Given the description of an element on the screen output the (x, y) to click on. 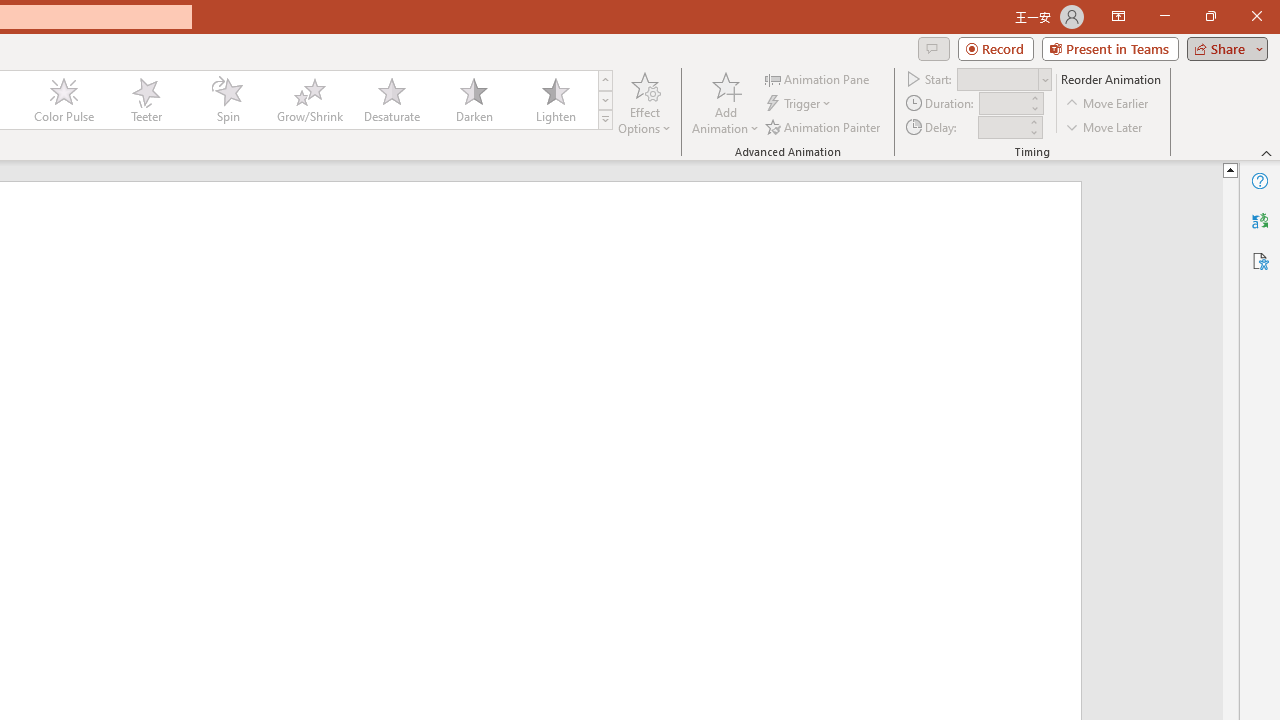
Less (1033, 132)
Darken (473, 100)
Trigger (799, 103)
